Given the description of an element on the screen output the (x, y) to click on. 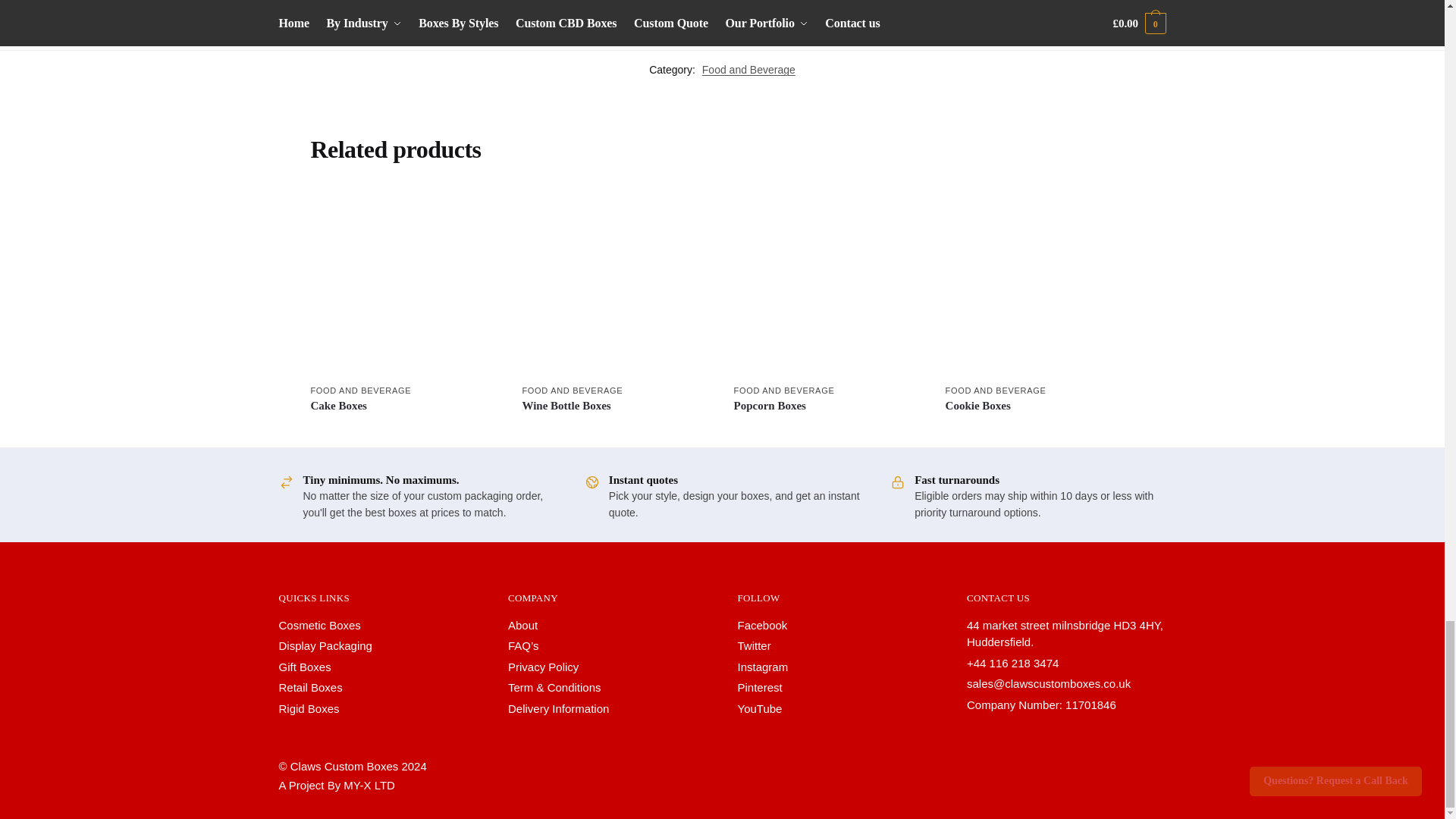
Wine Bottle Boxes (615, 283)
Cake Boxes (404, 283)
Popcorn Boxes (828, 283)
